Given the description of an element on the screen output the (x, y) to click on. 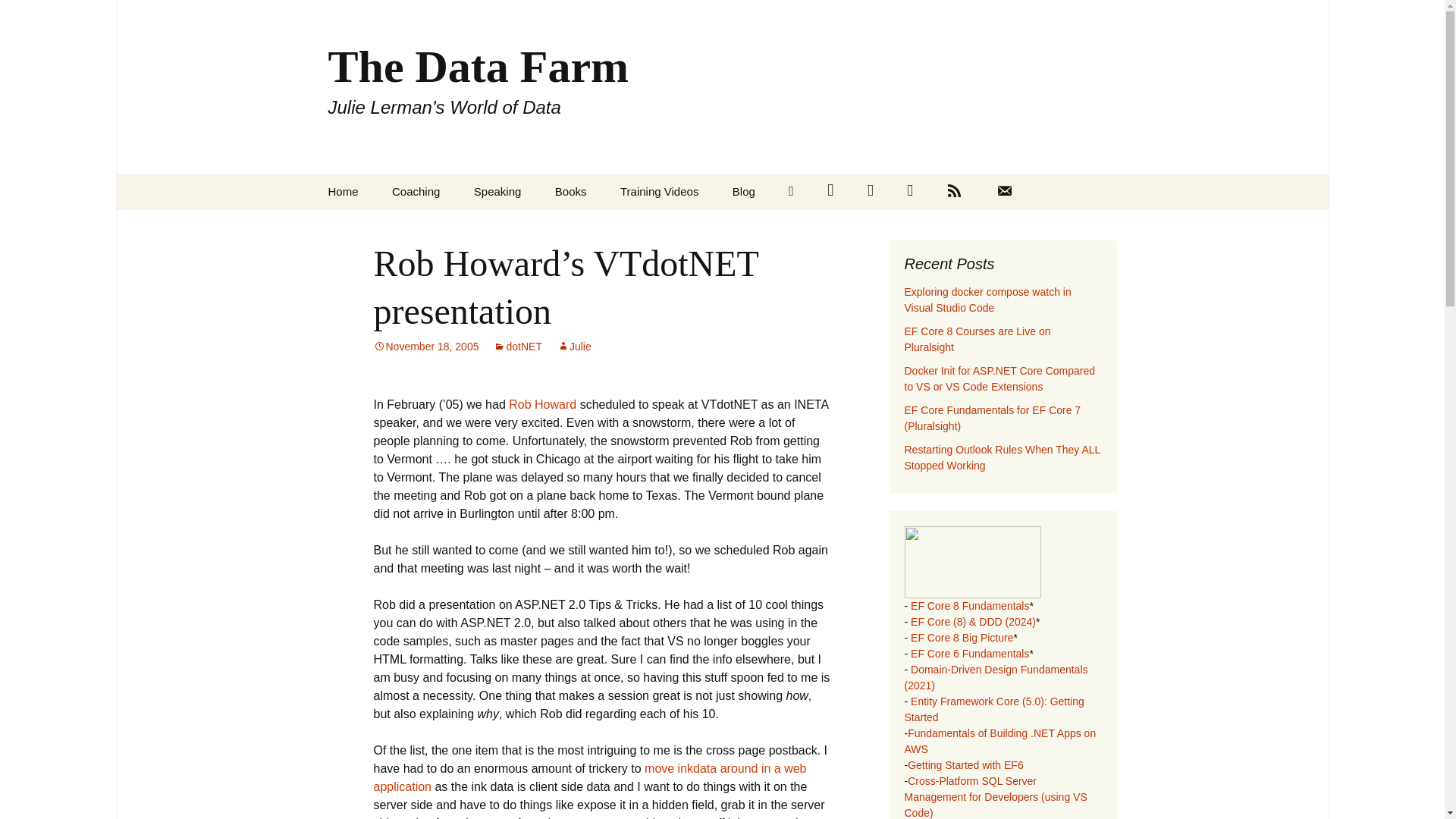
RSS (953, 191)
Rob Howard (743, 191)
Search (542, 404)
View all posts by Julie (18, 15)
move inkdata around in a web application (574, 346)
Coaching (589, 777)
Github (415, 191)
Contact (909, 191)
EF Core 8 Courses are Live on Pluralsight (1004, 191)
Twitter (976, 338)
Books (830, 191)
Exploring docker compose watch in Visual Studio Code (571, 191)
